Given the description of an element on the screen output the (x, y) to click on. 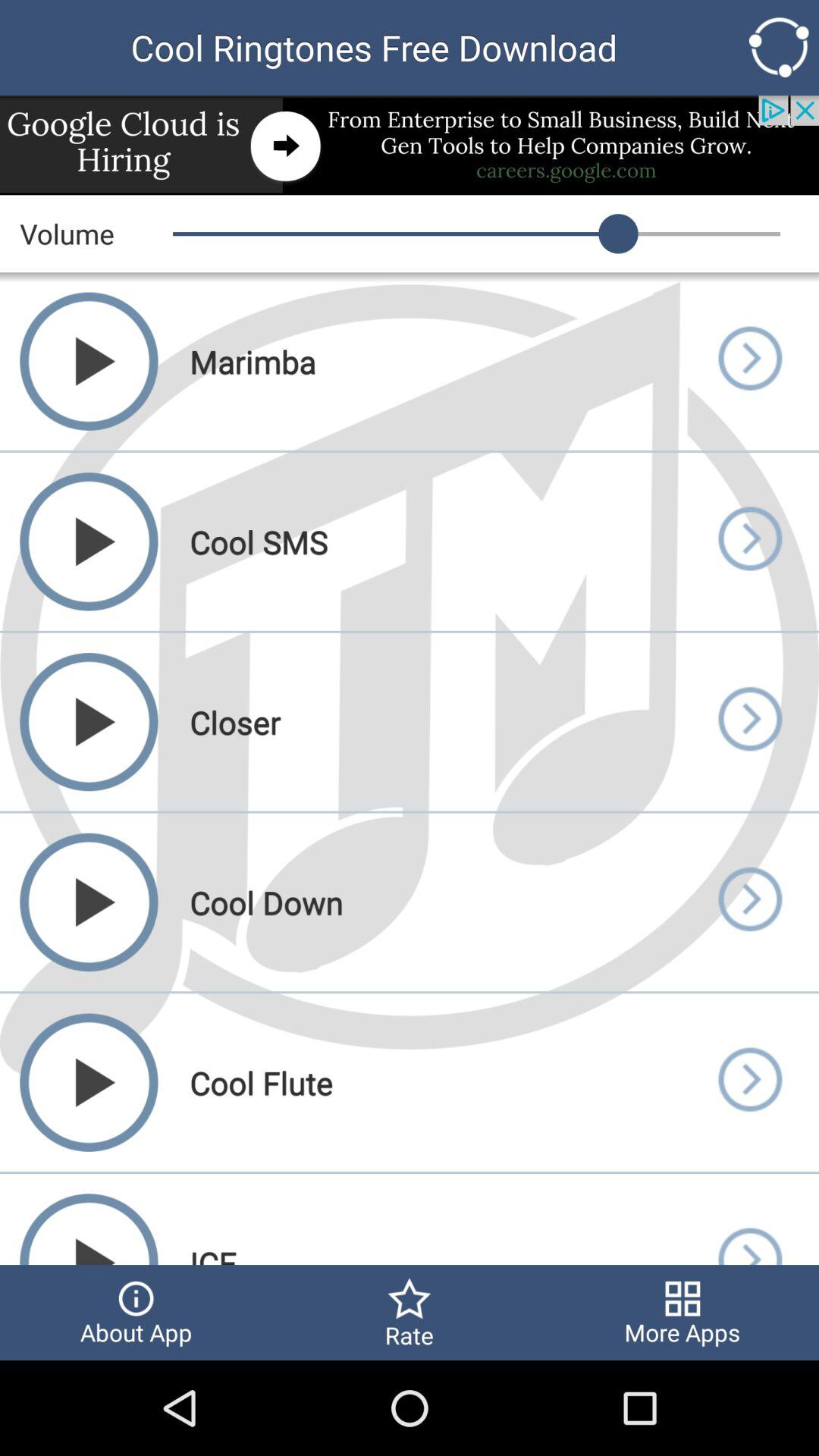
click to select ice ringtone (749, 1218)
